Given the description of an element on the screen output the (x, y) to click on. 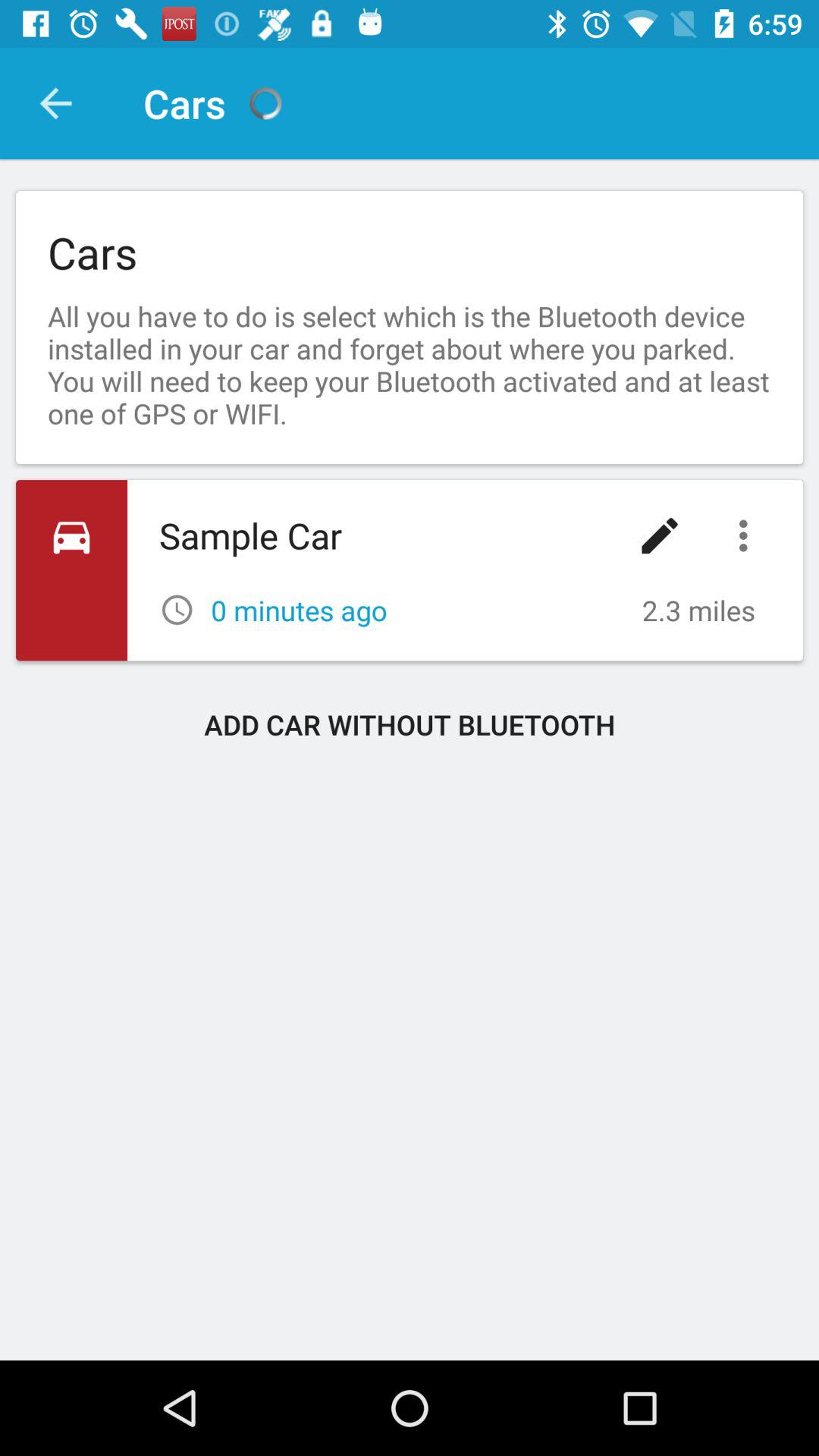
choose the item next to the sample car icon (659, 535)
